Given the description of an element on the screen output the (x, y) to click on. 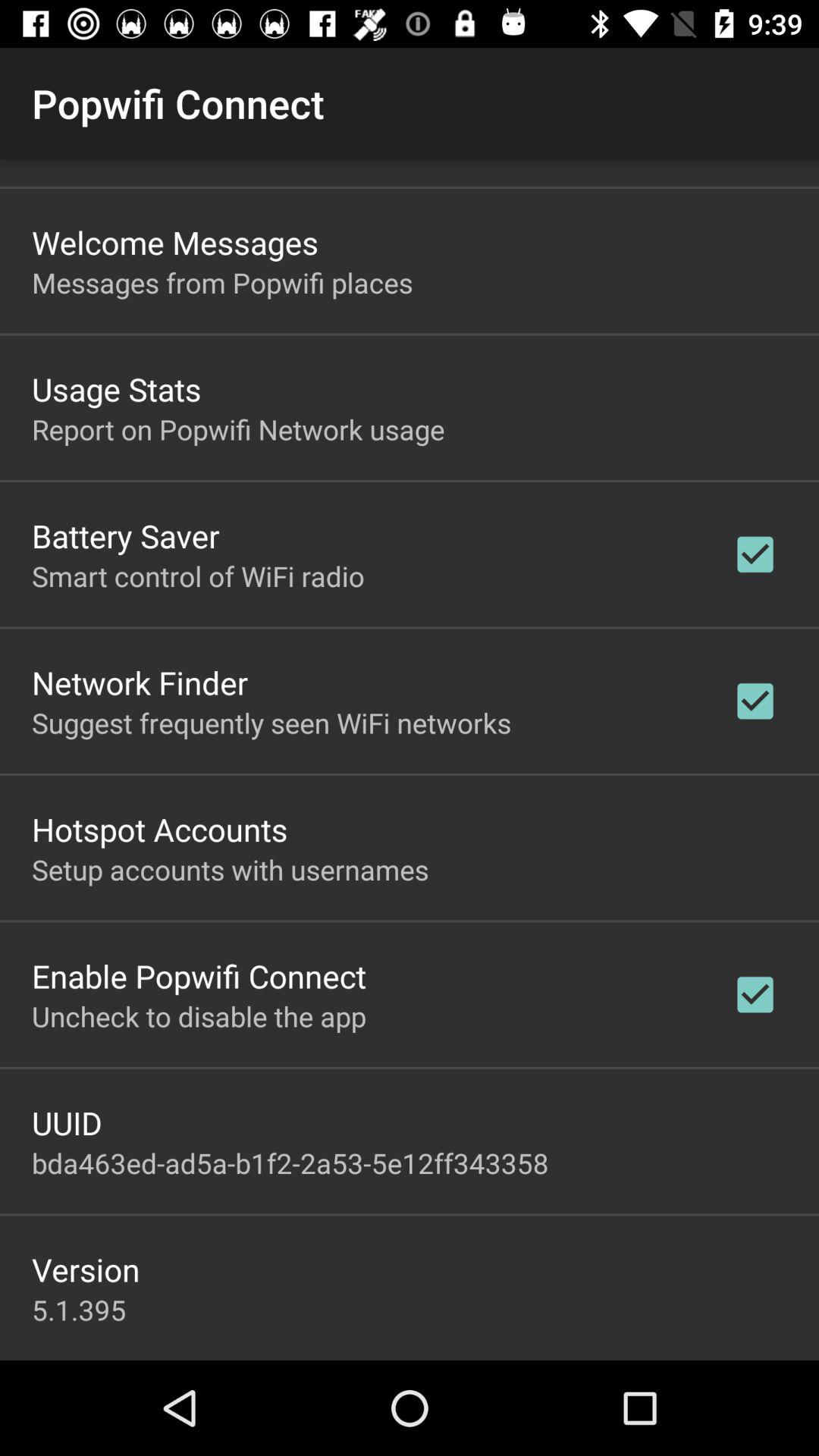
flip until welcome messages app (174, 241)
